Given the description of an element on the screen output the (x, y) to click on. 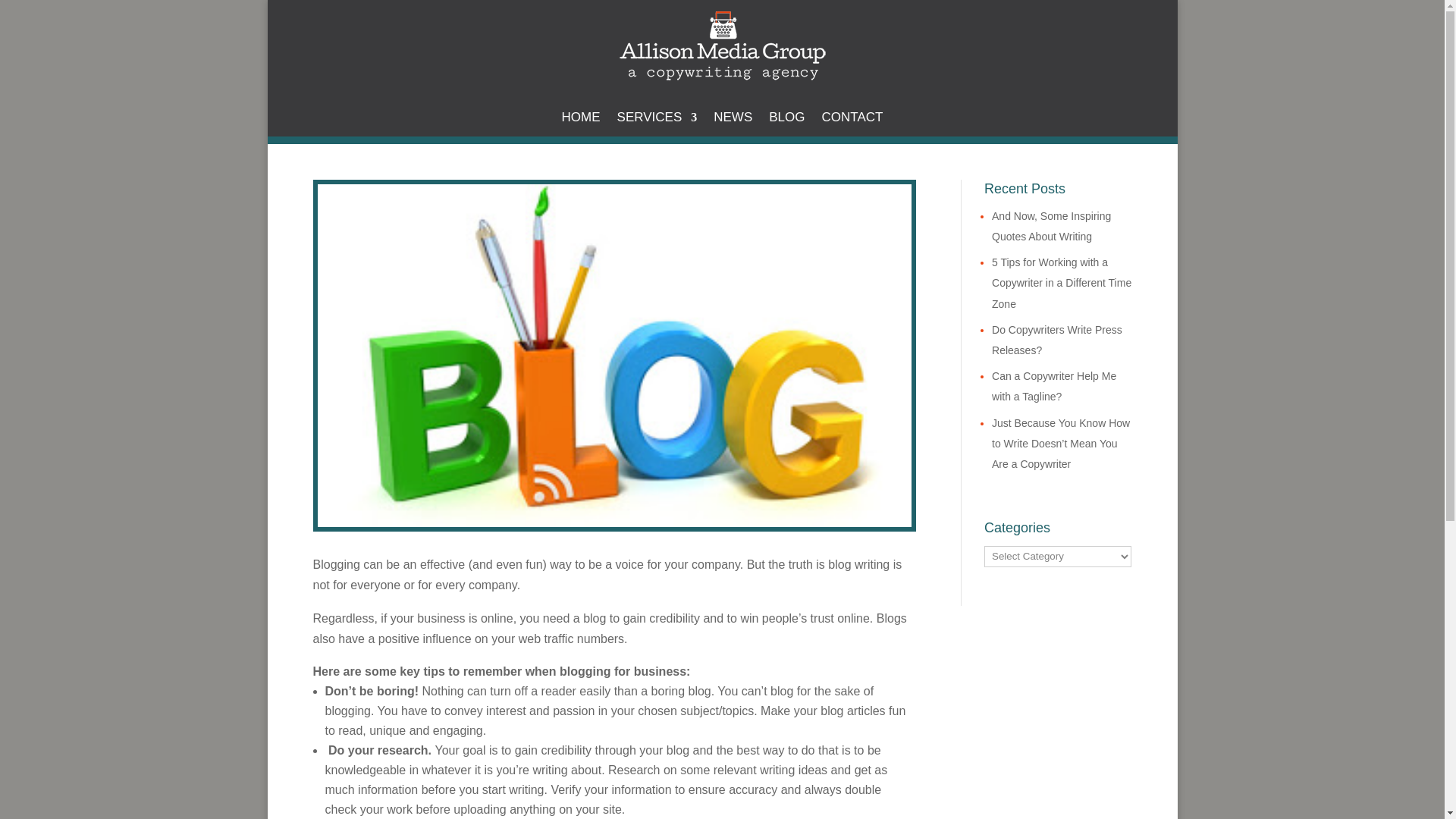
NEWS (732, 120)
Do Copywriters Write Press Releases? (1056, 339)
And Now, Some Inspiring Quotes About Writing (1050, 225)
HOME (580, 120)
BLOG (786, 120)
Can a Copywriter Help Me with a Tagline? (1053, 386)
SERVICES (657, 120)
CONTACT (852, 120)
AMG-Logo2022-WhiteWAccent (722, 45)
